Given the description of an element on the screen output the (x, y) to click on. 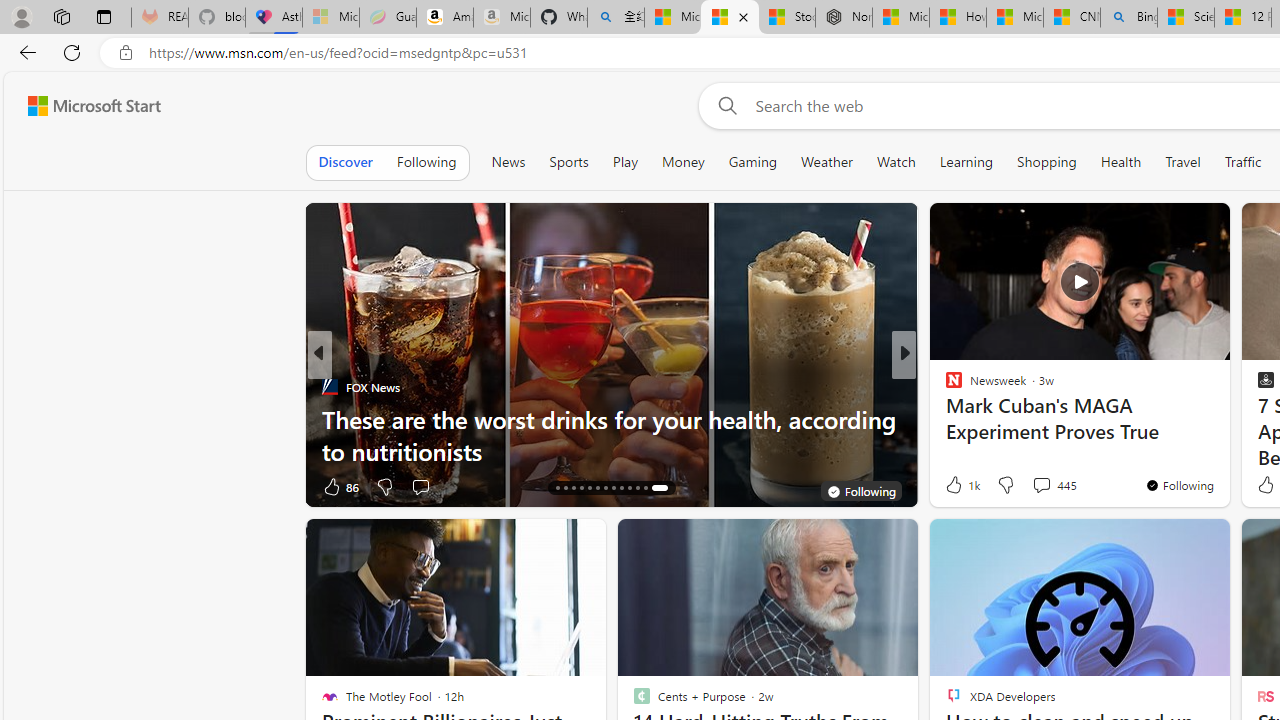
86 Like (340, 486)
You're following Newsweek (1179, 485)
AutomationID: tab-20 (605, 487)
